Given the description of an element on the screen output the (x, y) to click on. 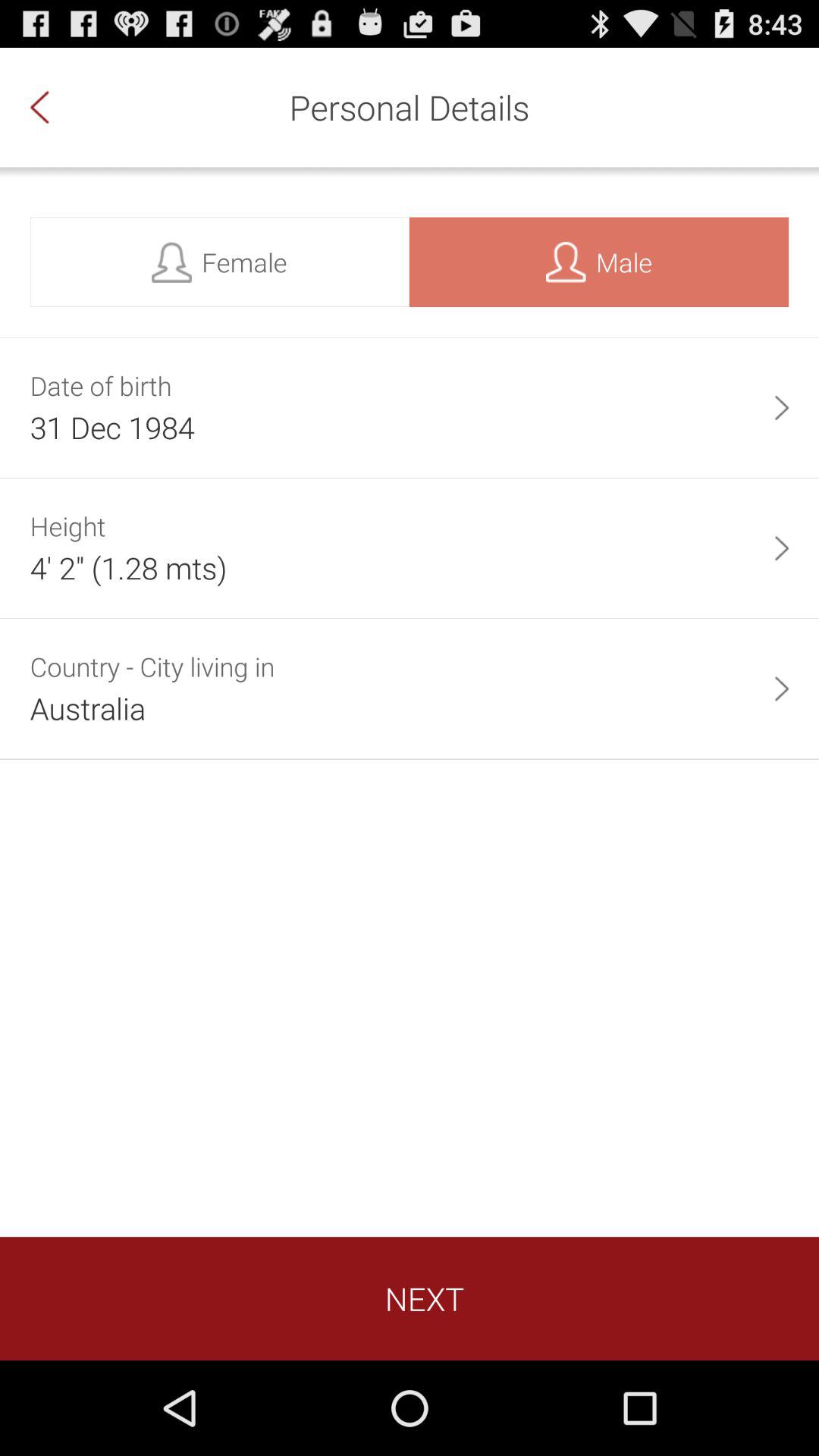
turn on item next to the personal details icon (55, 107)
